Given the description of an element on the screen output the (x, y) to click on. 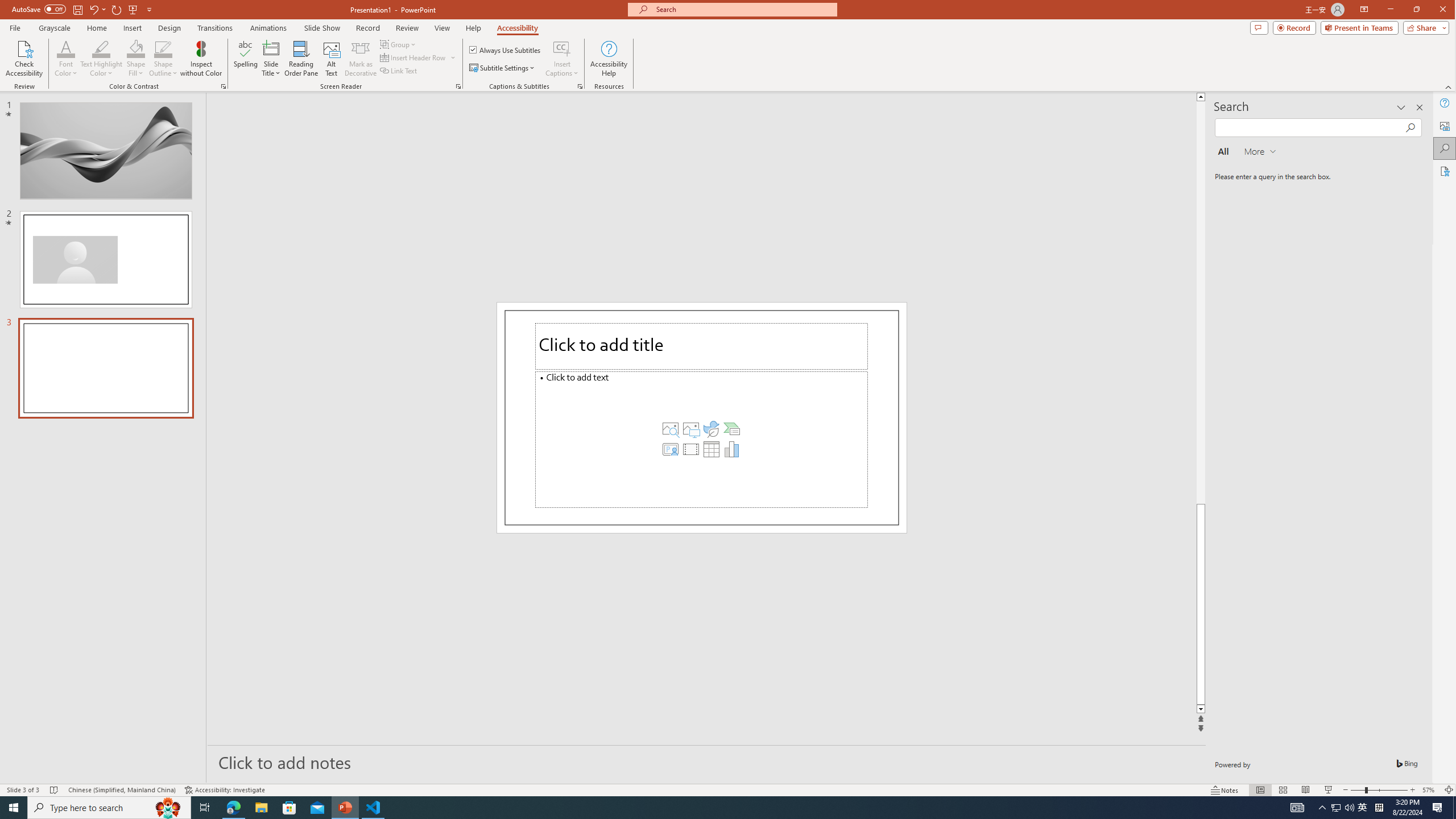
Color & Contrast (223, 85)
Accessibility Help (608, 58)
